Given the description of an element on the screen output the (x, y) to click on. 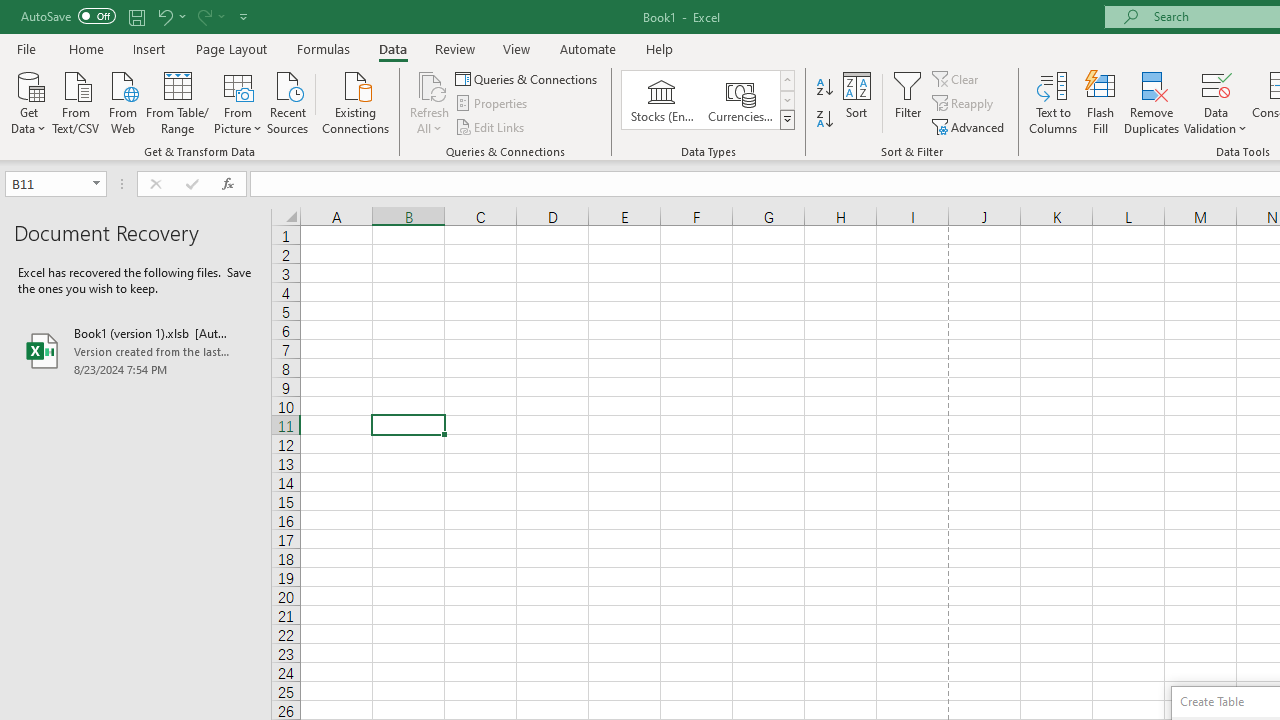
More Options (1215, 121)
Redo (209, 15)
Sort Z to A (824, 119)
Stocks (English) (662, 100)
AutomationID: ConvertToLinkedEntity (708, 99)
AutoSave (68, 16)
Reapply (964, 103)
Review (454, 48)
Existing Connections (355, 101)
View (517, 48)
Sort... (856, 102)
Customize Quick Access Toolbar (244, 15)
